Given the description of an element on the screen output the (x, y) to click on. 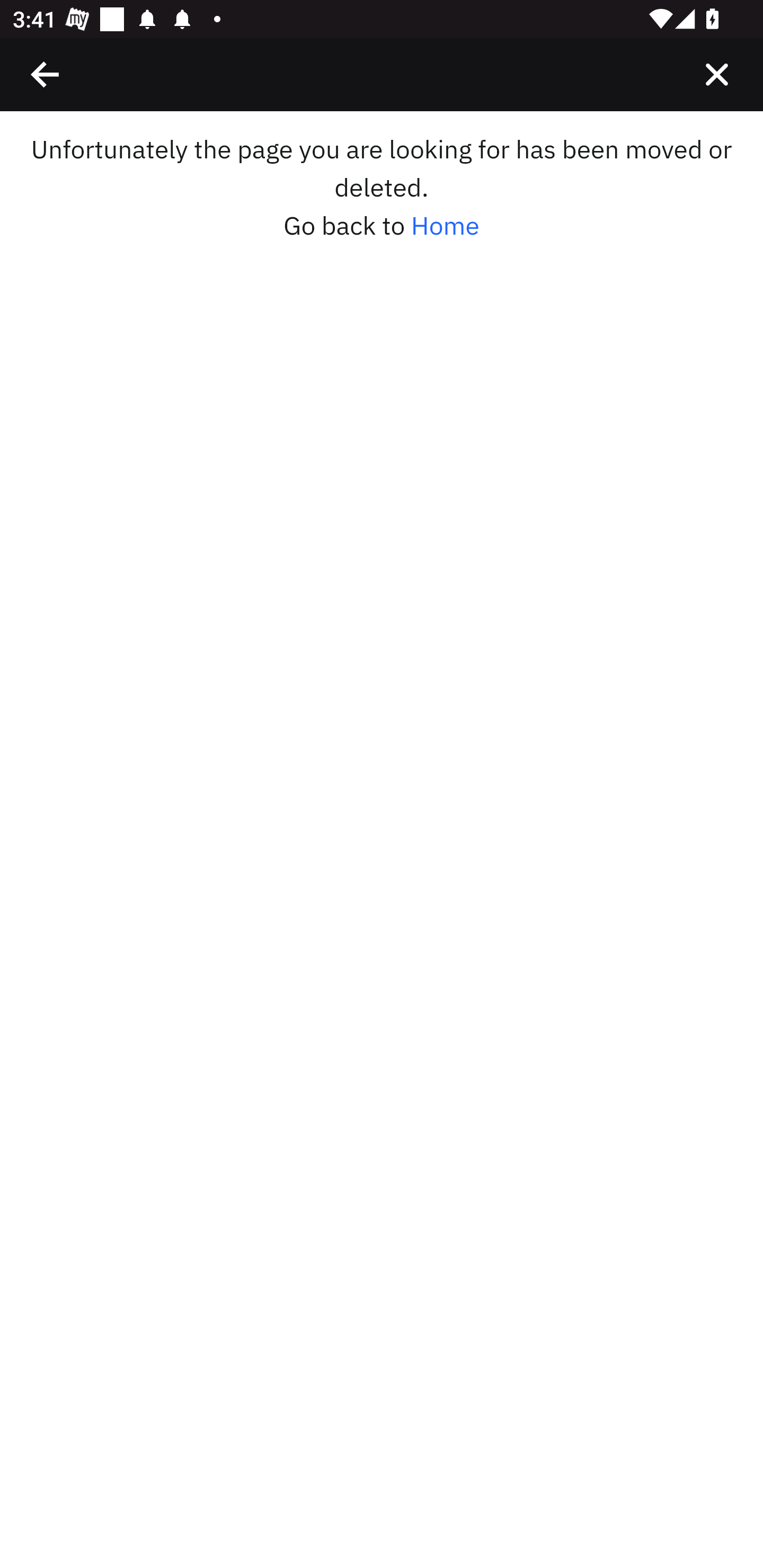
 (46, 74)
 (716, 74)
Home (444, 225)
